Given the description of an element on the screen output the (x, y) to click on. 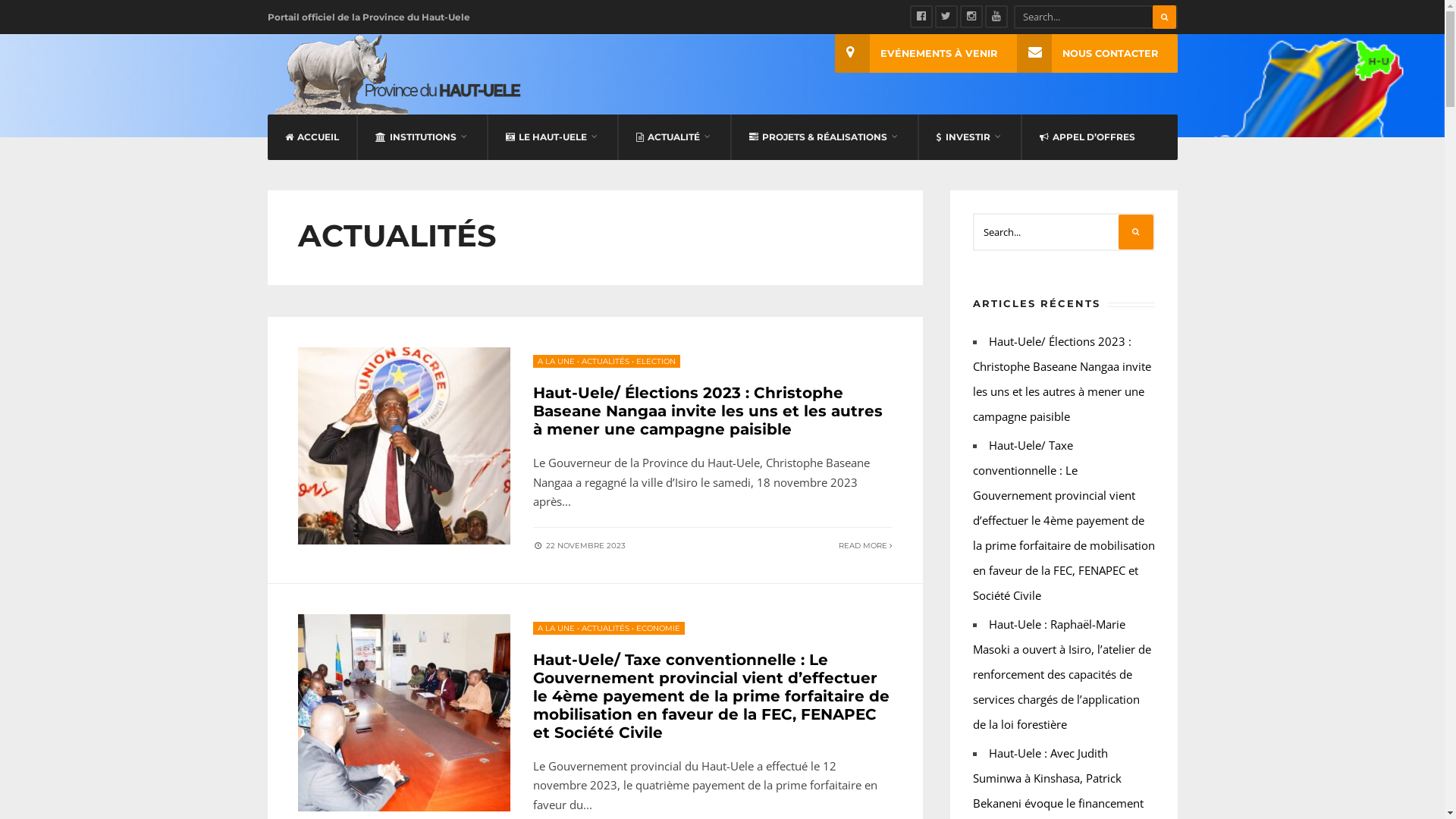
A LA UNE Element type: text (555, 628)
Facebook Element type: hover (921, 16)
ELECTION Element type: text (654, 361)
ACCUEIL Element type: text (311, 137)
A LA UNE Element type: text (555, 361)
LE HAUT-UELE Element type: text (552, 137)
NOUS CONTACTER Element type: text (1096, 53)
Instagram Element type: hover (971, 16)
Twitter Element type: hover (945, 16)
INSTITUTIONS Element type: text (421, 137)
READ MORE Element type: text (865, 545)
INVESTIR Element type: text (968, 137)
ECONOMIE Element type: text (657, 628)
You Tube Element type: hover (995, 16)
